Given the description of an element on the screen output the (x, y) to click on. 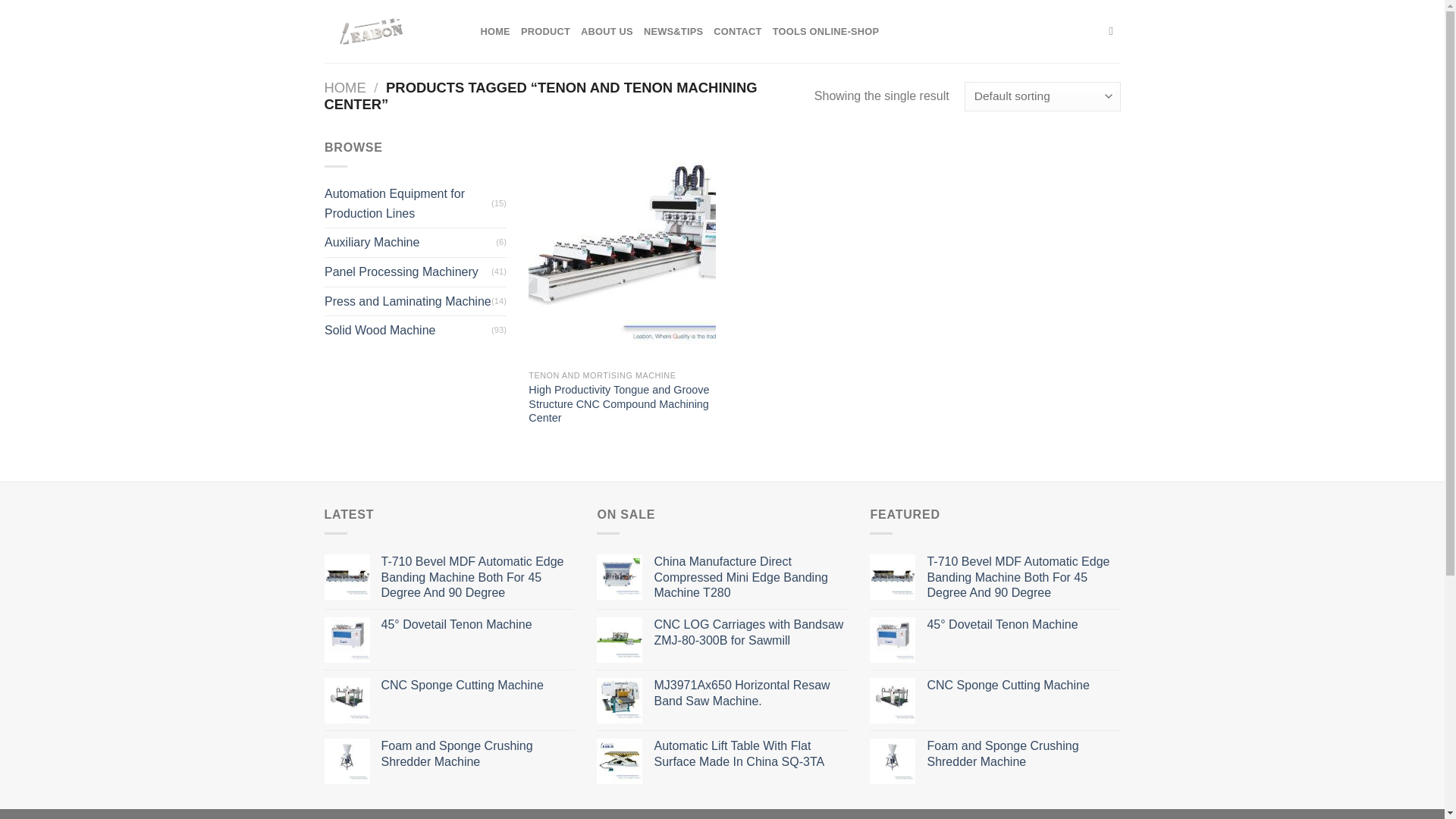
Panel Processing Machinery (408, 271)
ABOUT US (606, 31)
CONTACT (737, 31)
Solid Wood Machine (408, 330)
MJ3971Ax650 Horizontal Resaw Band Saw Machine. (750, 694)
PRODUCT (545, 31)
TOOLS ONLINE-SHOP (826, 31)
